Given the description of an element on the screen output the (x, y) to click on. 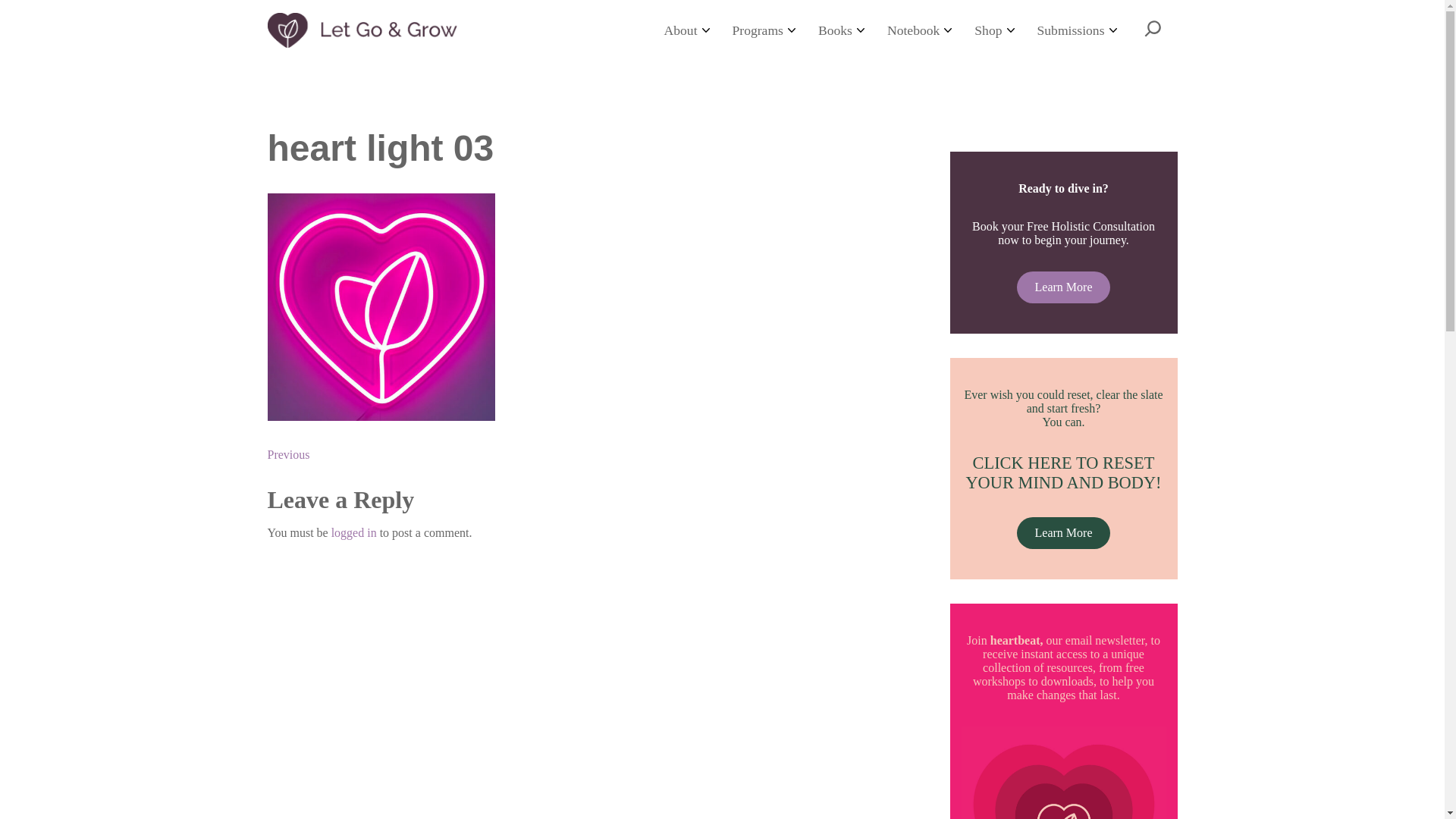
Books (841, 30)
Notebook (919, 30)
Submissions (1077, 30)
About (686, 30)
Programs (763, 30)
Shop (993, 30)
